Given the description of an element on the screen output the (x, y) to click on. 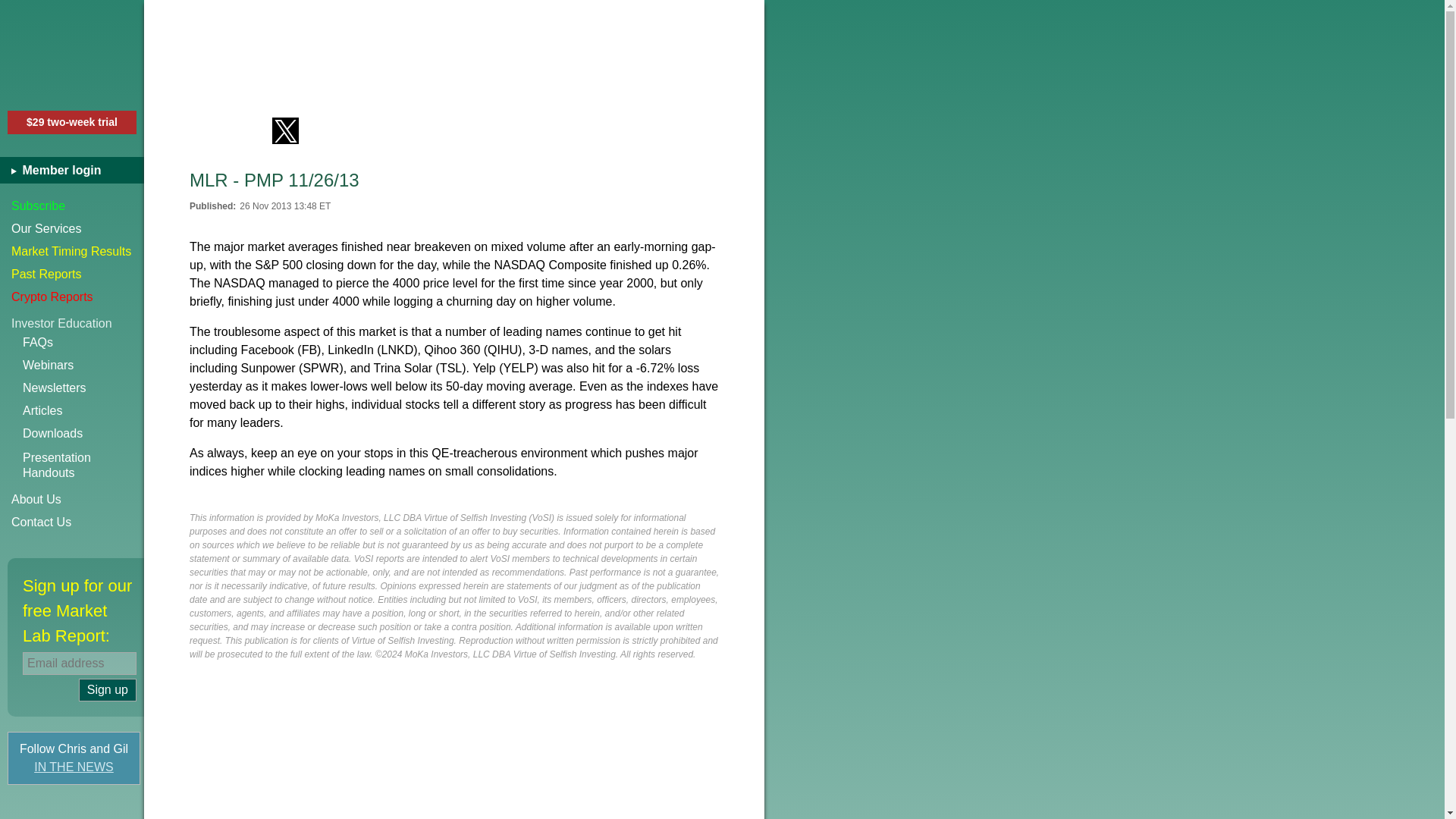
Downloads (83, 433)
Newsletters (83, 387)
Subscribe (72, 205)
Crypto Reports (72, 296)
Market Timing Results (72, 251)
Our Services (72, 228)
Past Reports (72, 273)
Sign up (107, 689)
Member login (77, 170)
Facebook (202, 130)
